Given the description of an element on the screen output the (x, y) to click on. 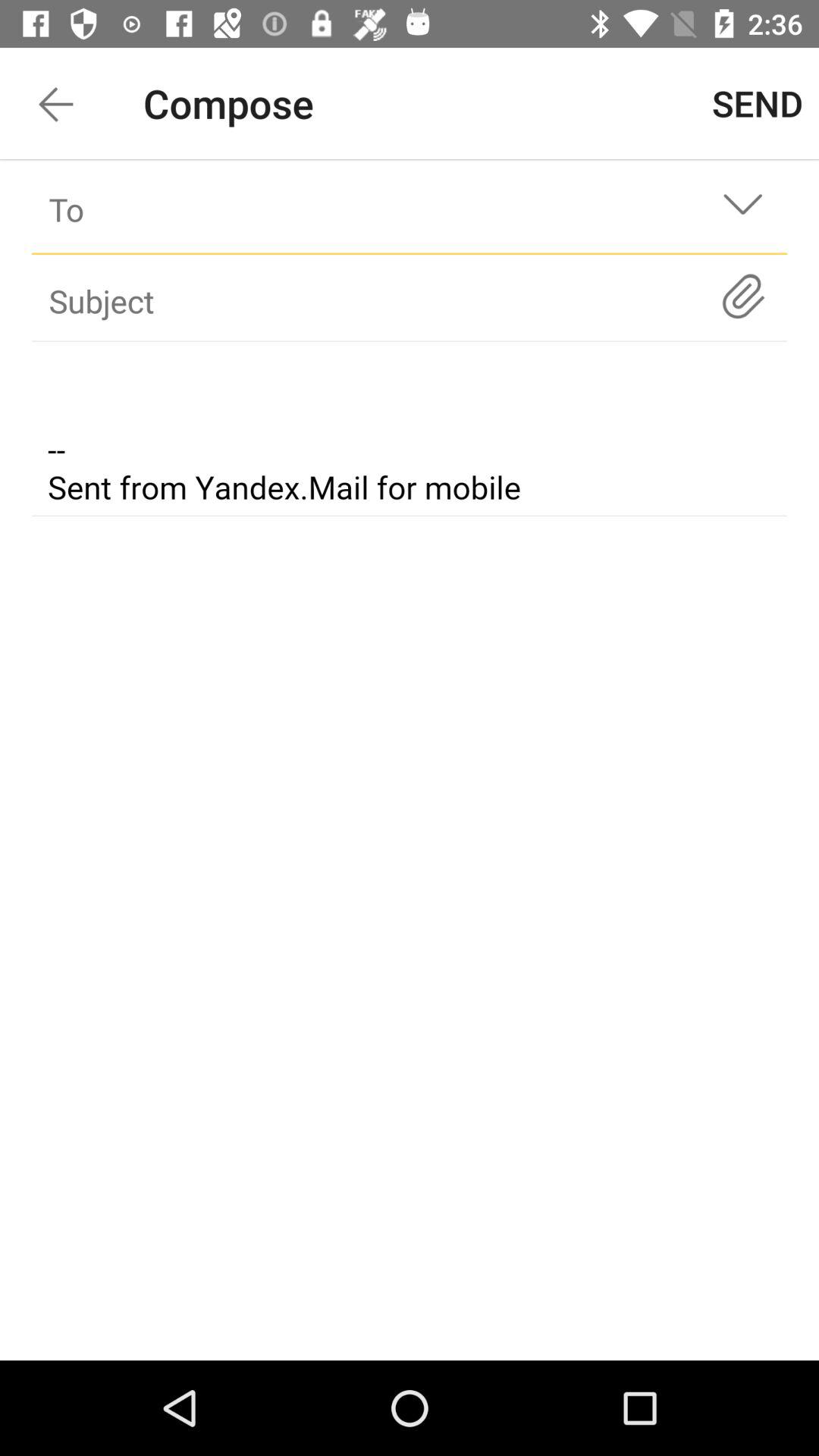
opens text box for email body (409, 431)
